Given the description of an element on the screen output the (x, y) to click on. 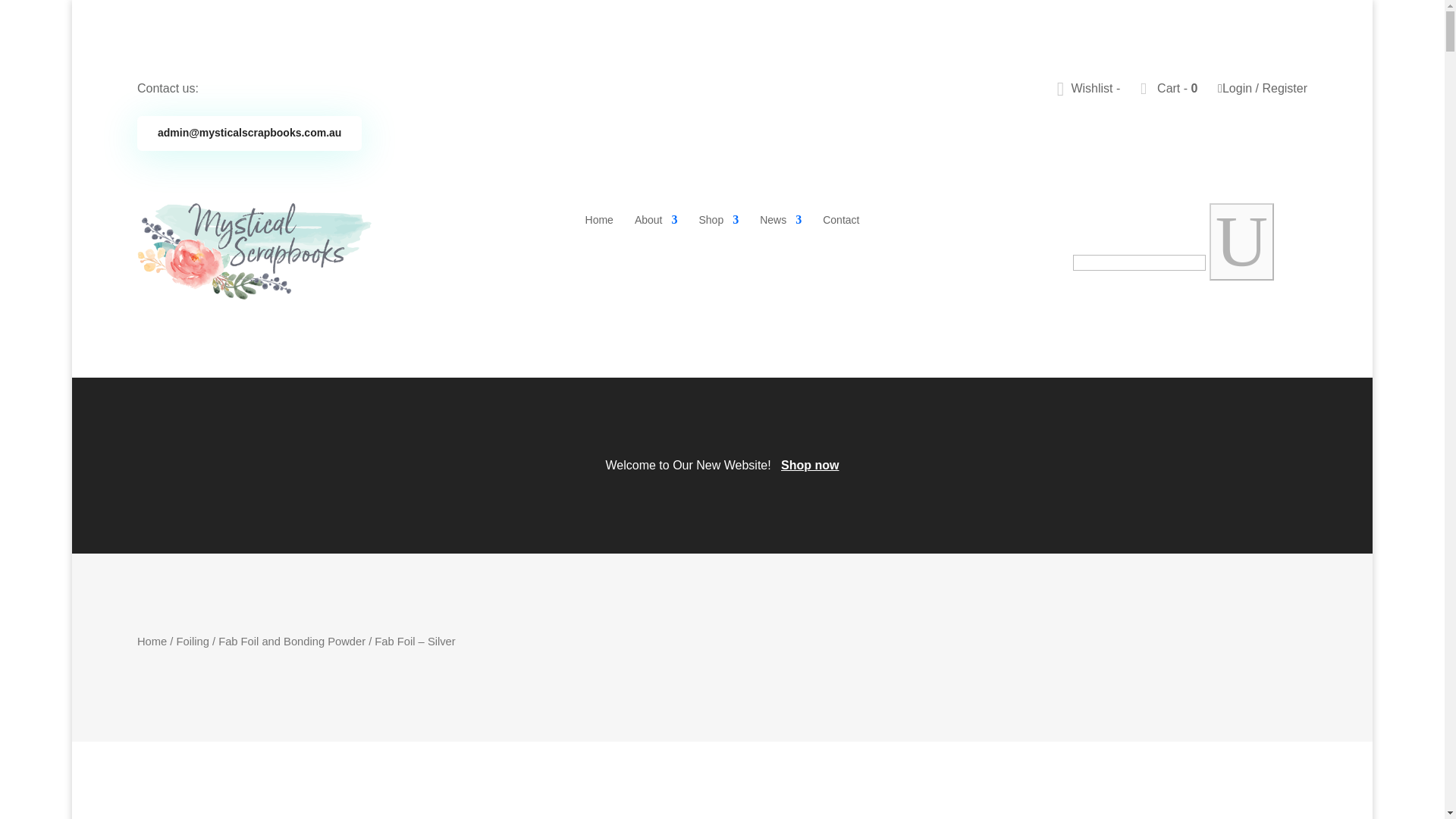
Shop (718, 219)
Wishlist - (1090, 88)
Fab Foil and Bonding Powder (291, 641)
Contact (840, 219)
Foiling (192, 641)
Home (151, 641)
Cart - 0 (1170, 88)
News (781, 219)
About (656, 219)
